Given the description of an element on the screen output the (x, y) to click on. 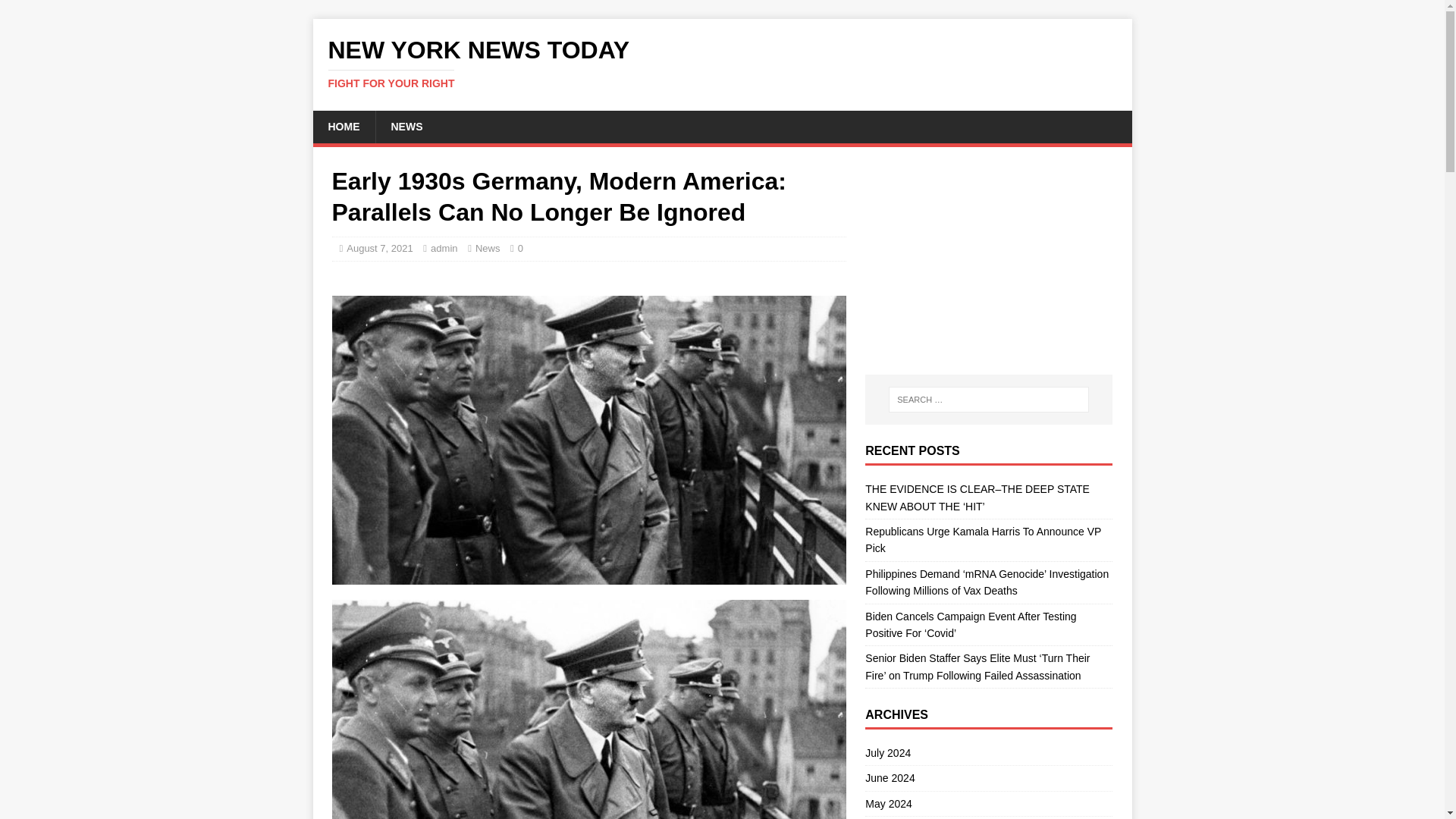
New York News Today (721, 63)
Search (56, 11)
Republicans Urge Kamala Harris To Announce VP Pick (982, 539)
NEWS (406, 126)
News (488, 247)
August 7, 2021 (379, 247)
Advertisement (988, 260)
HOME (721, 63)
admin (343, 126)
